Given the description of an element on the screen output the (x, y) to click on. 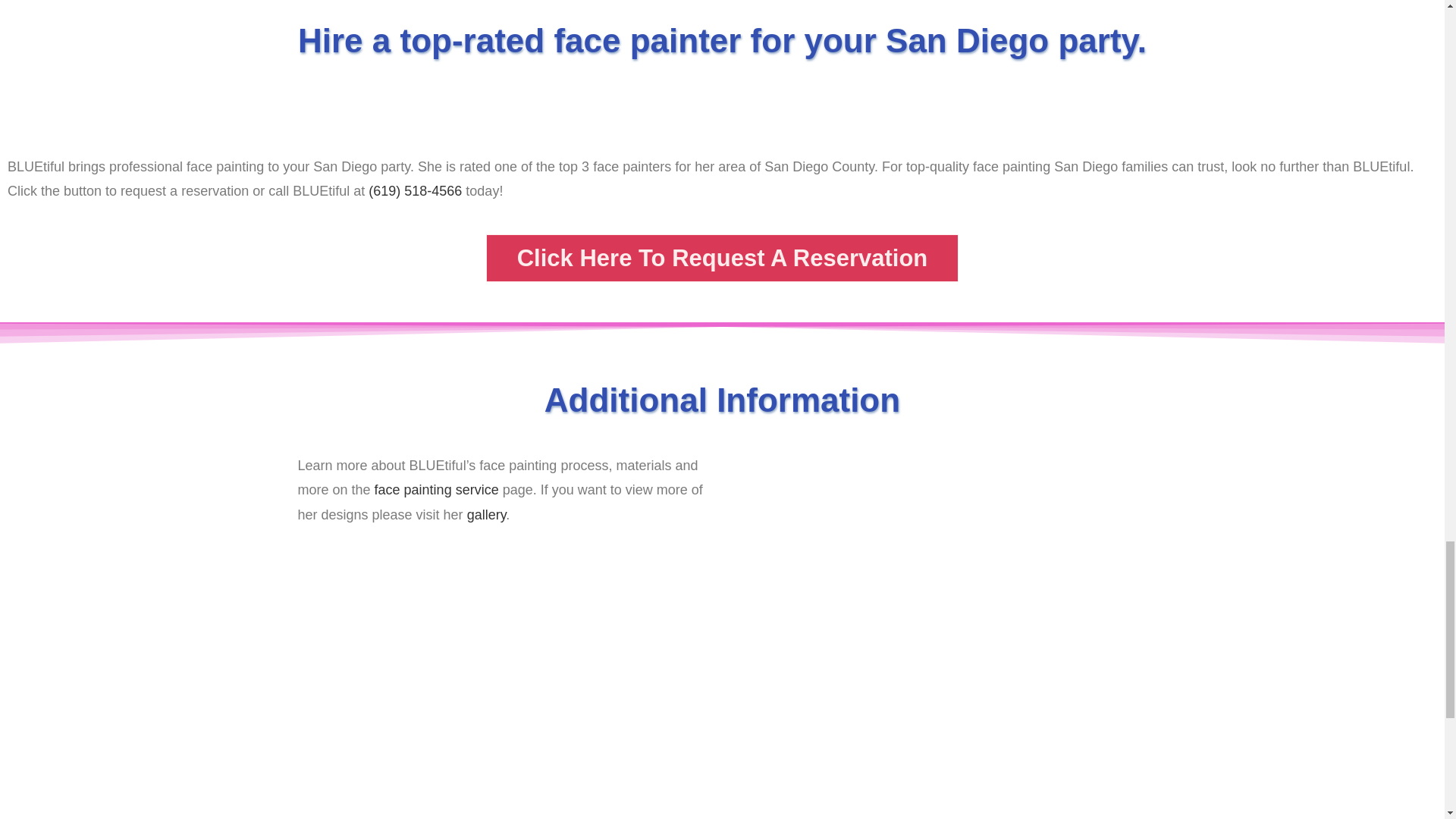
gallery (486, 514)
Click Here To Request A Reservation (722, 257)
face painting service (436, 489)
